Given the description of an element on the screen output the (x, y) to click on. 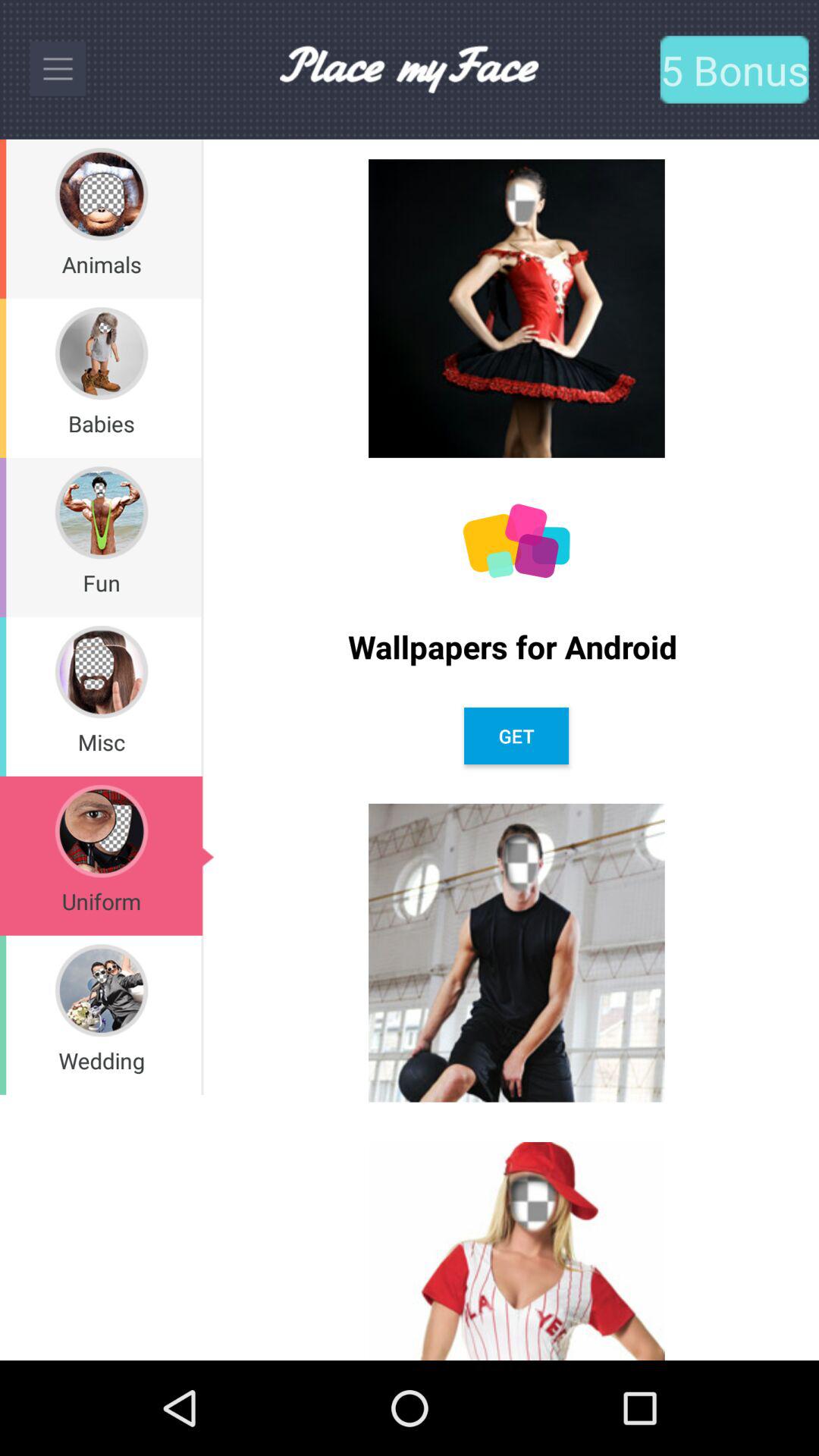
launch uniform (101, 901)
